Given the description of an element on the screen output the (x, y) to click on. 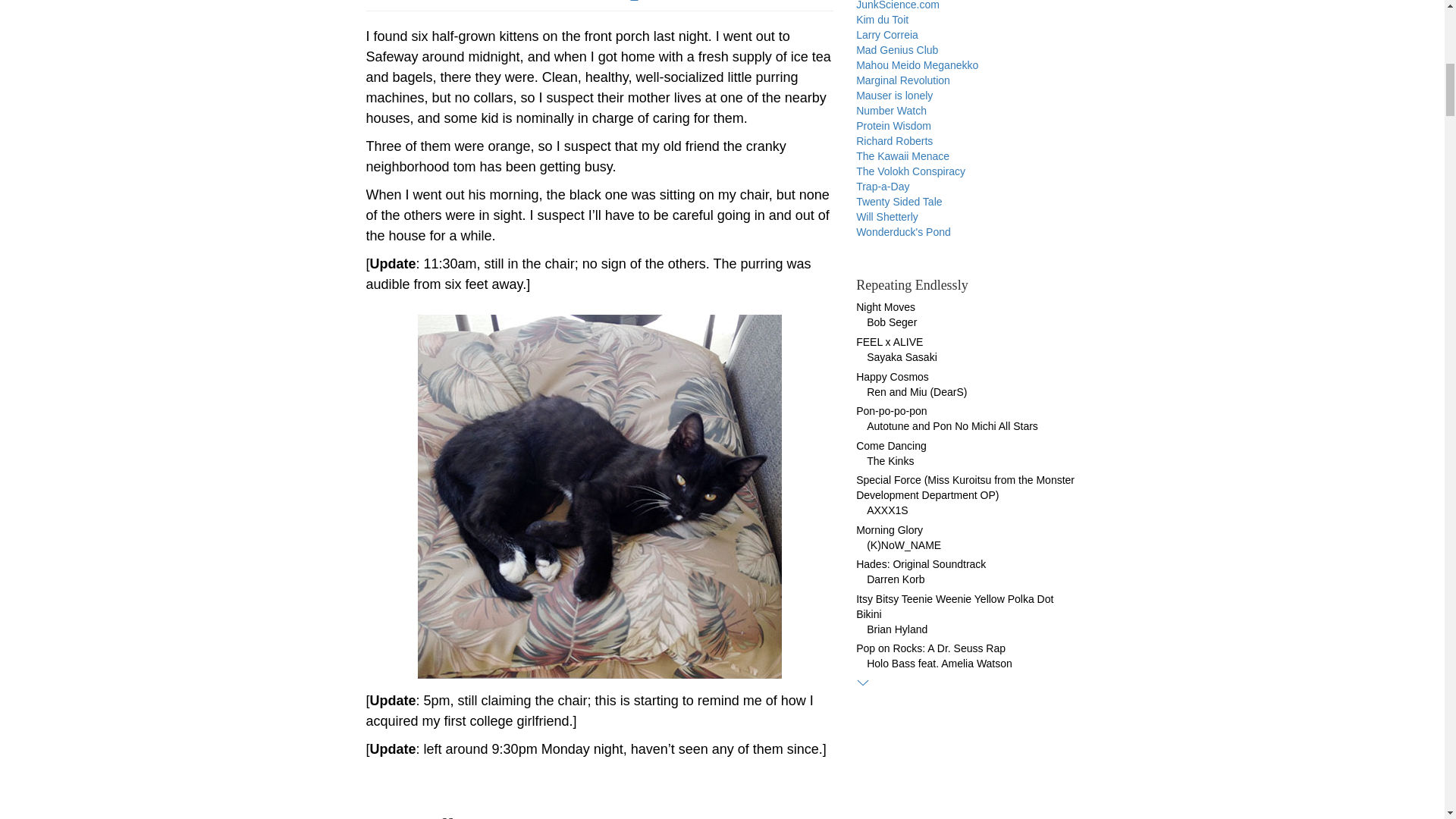
teh-evil-one.jpg (599, 496)
